Given the description of an element on the screen output the (x, y) to click on. 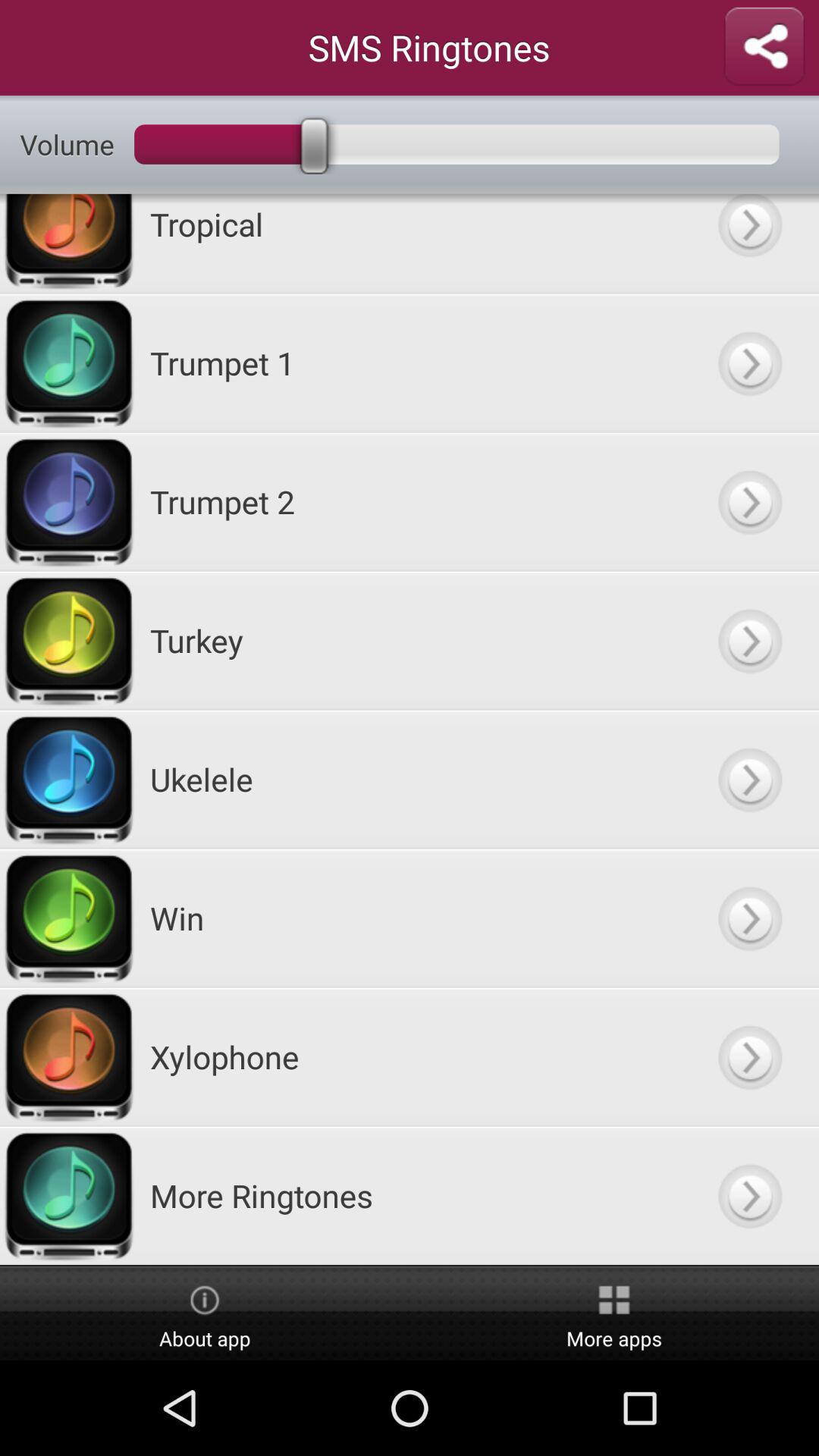
click to play (749, 501)
